Given the description of an element on the screen output the (x, y) to click on. 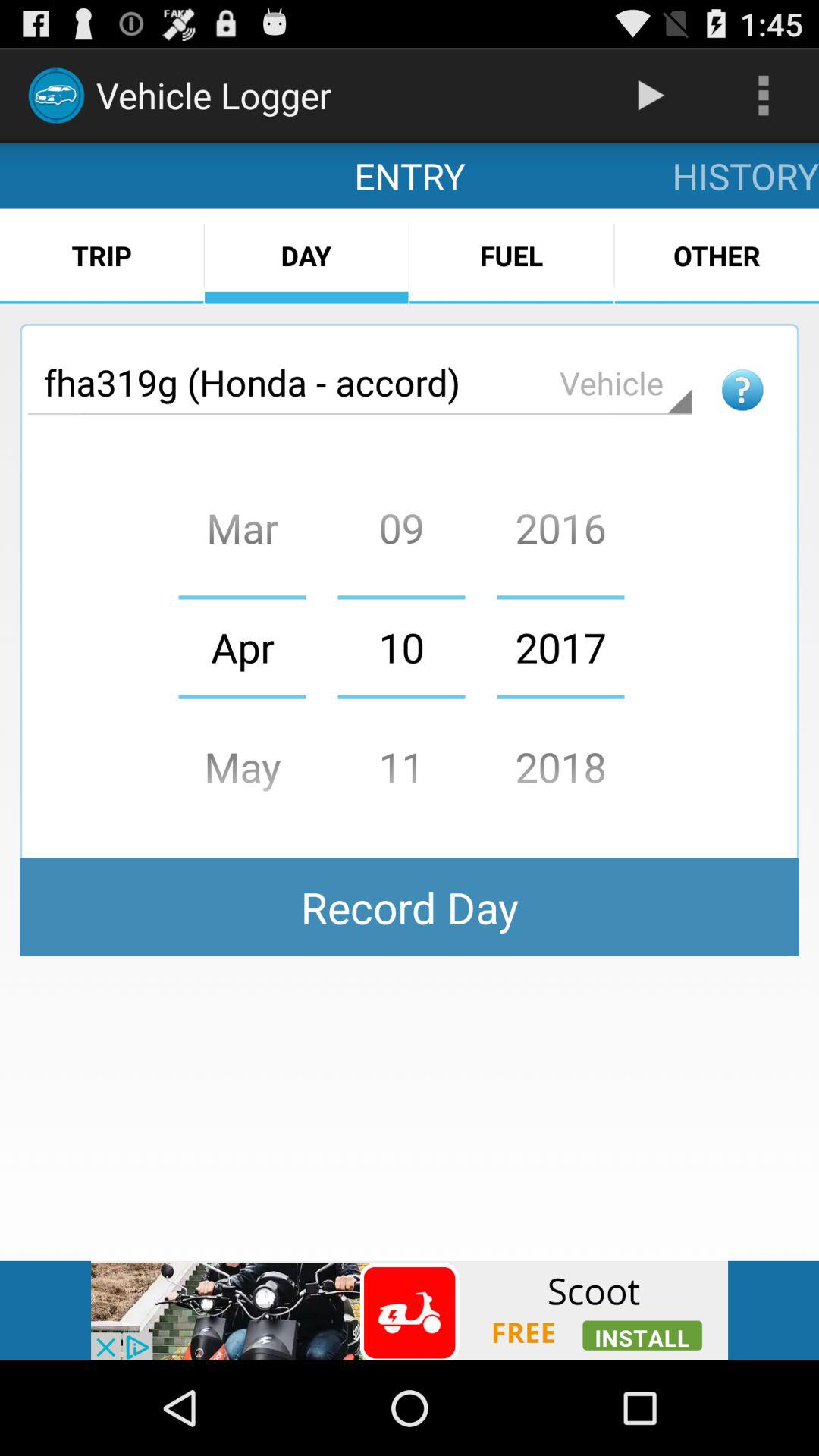
scoot option (409, 1310)
